Given the description of an element on the screen output the (x, y) to click on. 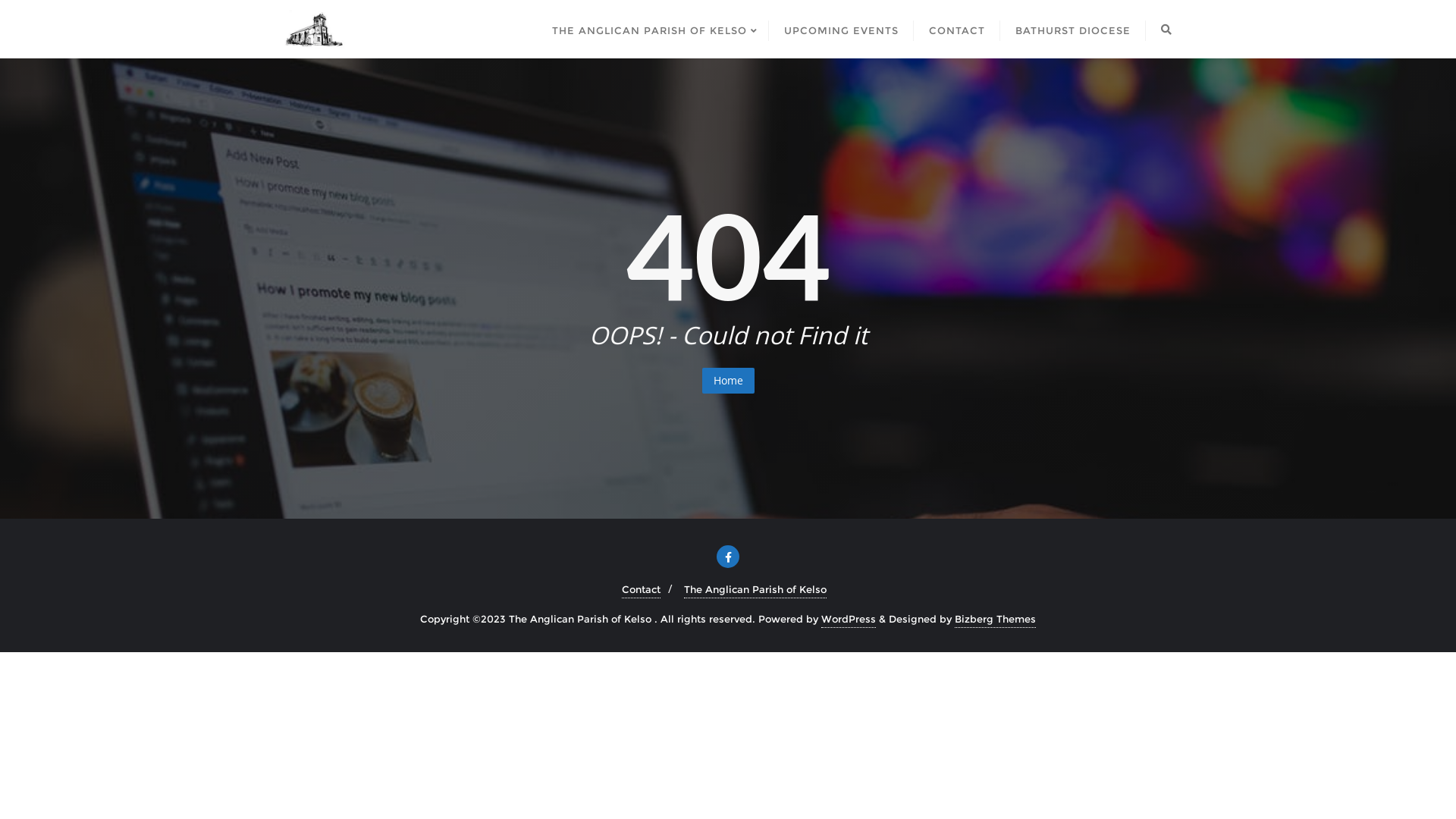
UPCOMING EVENTS Element type: text (840, 29)
Bizberg Themes Element type: text (994, 618)
The Anglican Parish of Kelso Element type: text (755, 589)
CONTACT Element type: text (956, 29)
BATHURST DIOCESE Element type: text (1072, 29)
THE ANGLICAN PARISH OF KELSO Element type: text (652, 29)
Contact Element type: text (640, 589)
WordPress Element type: text (848, 618)
Home Element type: text (728, 380)
